Given the description of an element on the screen output the (x, y) to click on. 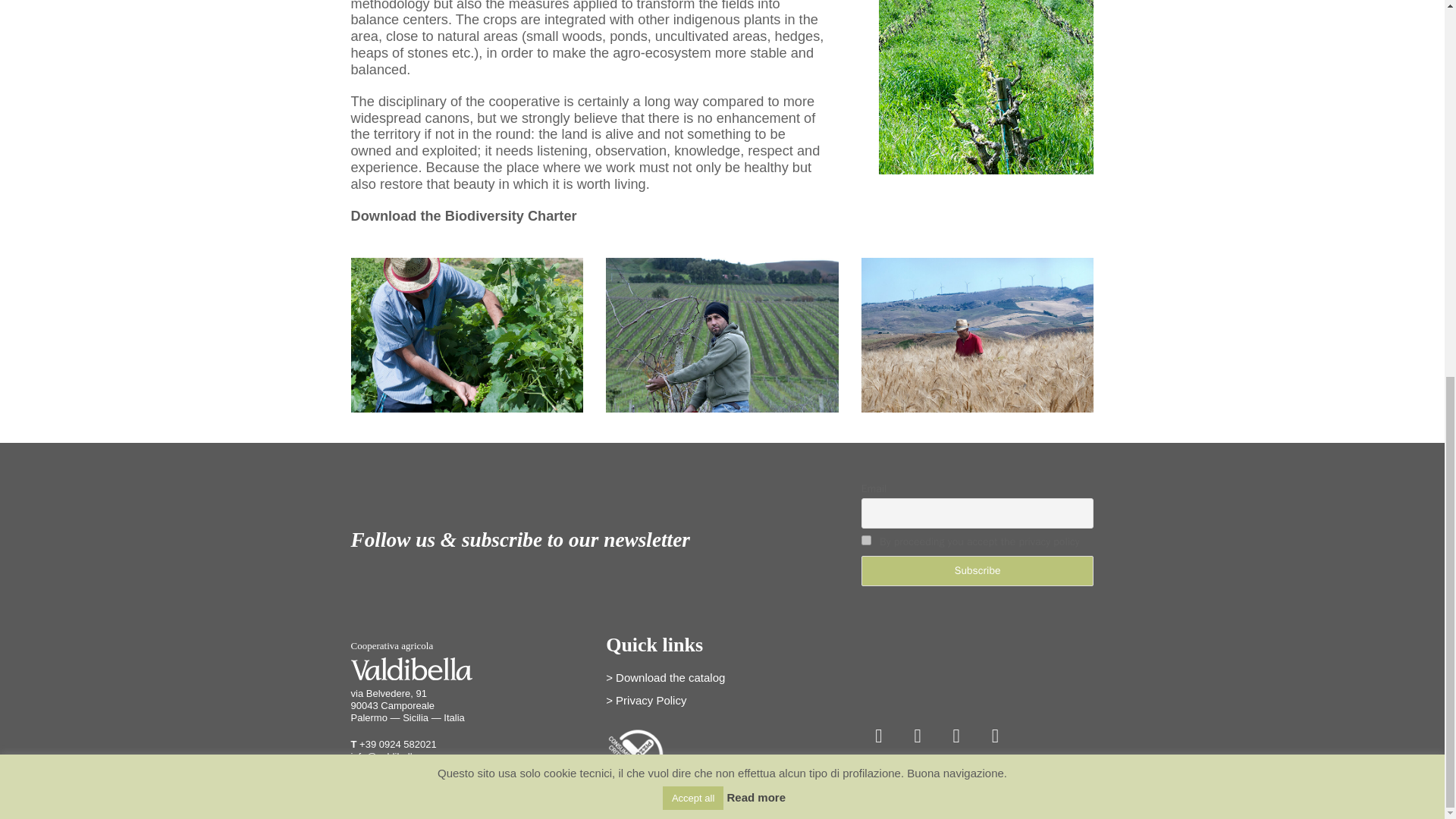
Subscribe (977, 571)
Youtube (993, 736)
Youtube (993, 736)
Instagram (916, 736)
Download the Biodiversity Charter (463, 215)
Twitter (956, 736)
on (865, 540)
Facebook (878, 736)
Twitter (956, 736)
Facebook (878, 736)
Subscribe (977, 571)
addiopizzo (635, 758)
Instagram (916, 736)
